Given the description of an element on the screen output the (x, y) to click on. 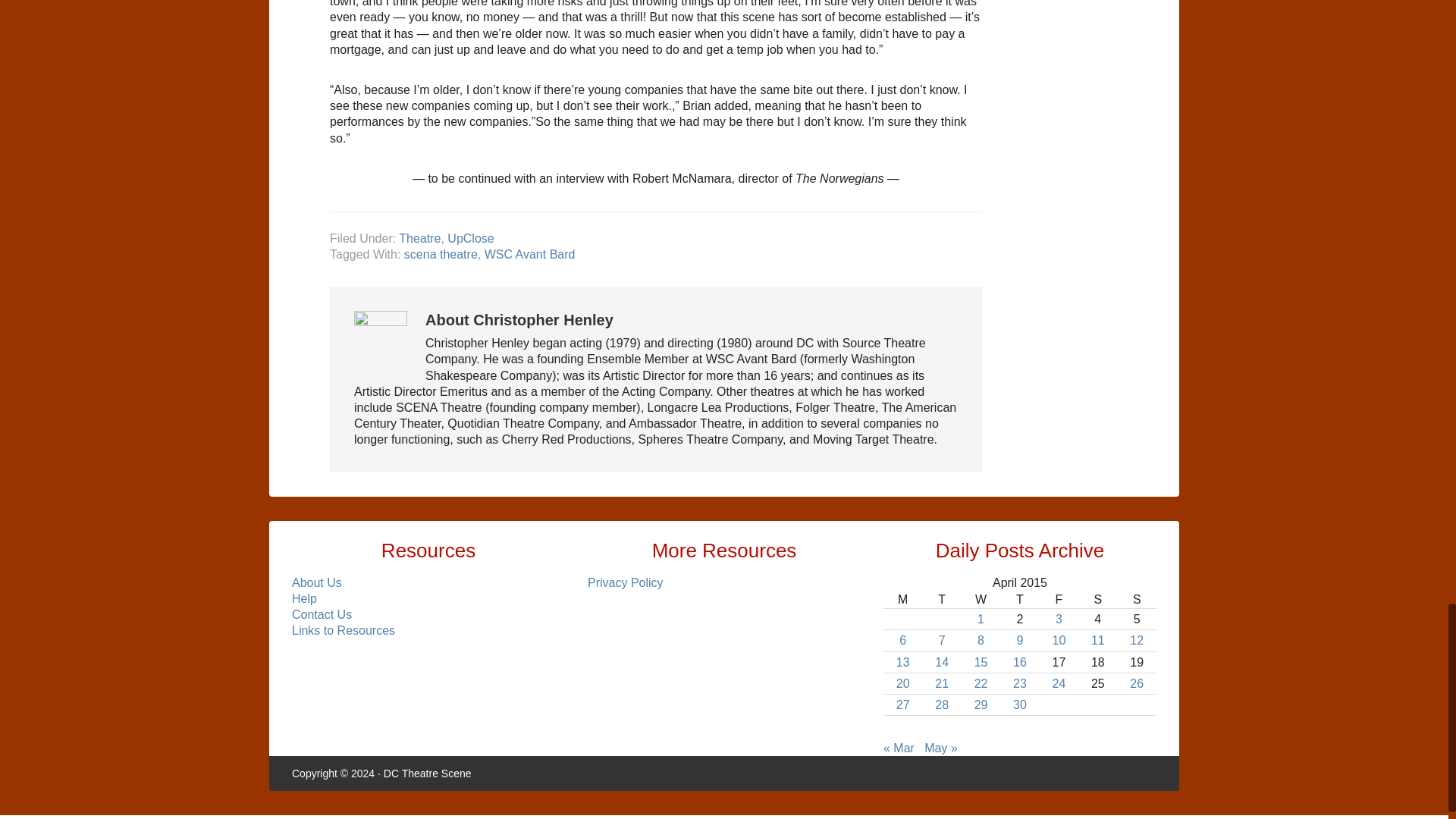
Theatre (419, 237)
Tuesday (940, 599)
Wednesday (980, 599)
Thursday (1019, 599)
Sunday (1137, 599)
Saturday (1097, 599)
Monday (902, 599)
UpClose (469, 237)
Friday (1058, 599)
WSC Avant Bard (529, 254)
